Given the description of an element on the screen output the (x, y) to click on. 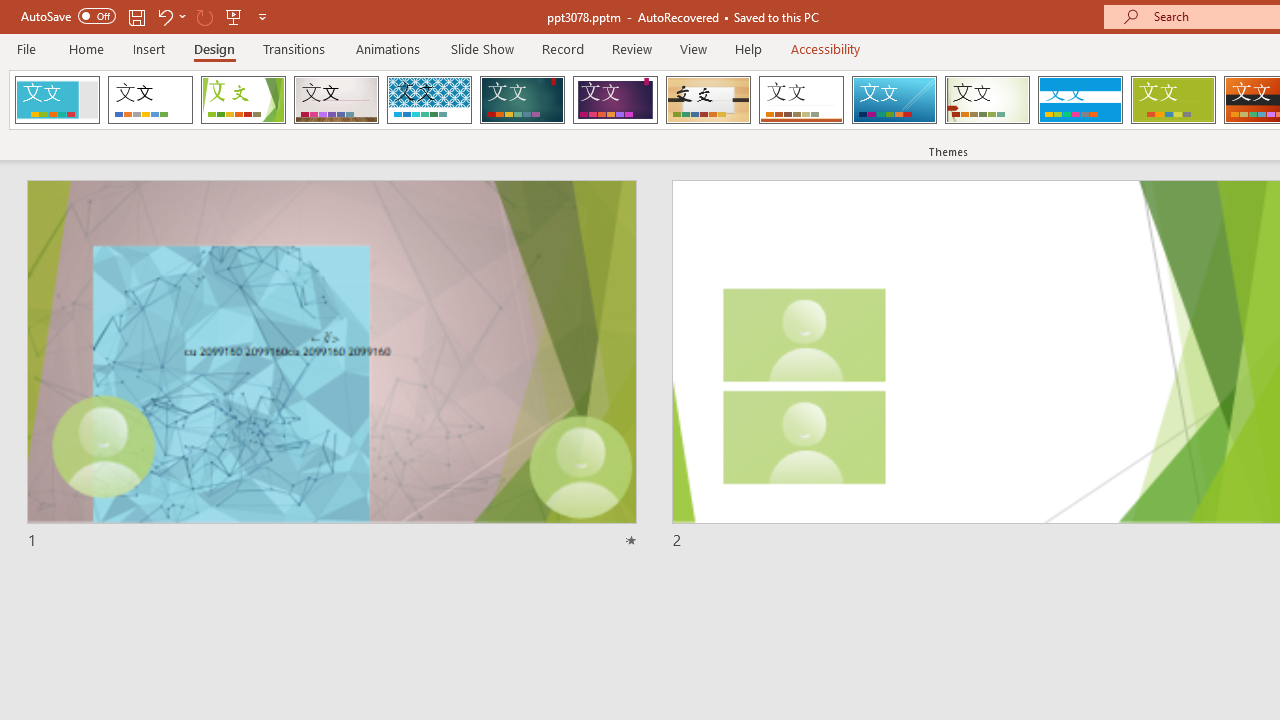
Facet (243, 100)
Slice (893, 100)
Banded (1080, 100)
